Given the description of an element on the screen output the (x, y) to click on. 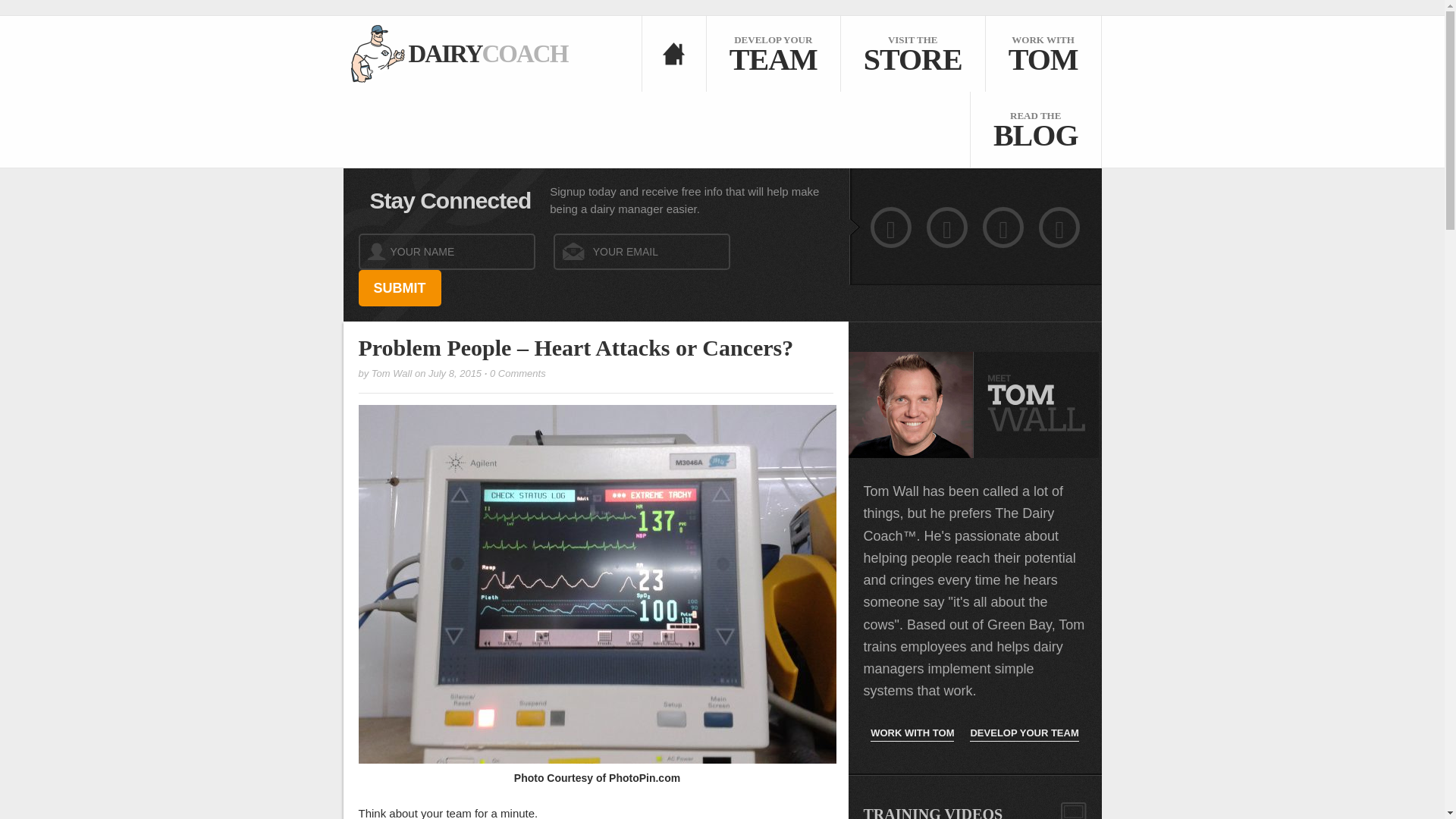
Submit (399, 288)
DEVELOP YOUR TEAM (1023, 733)
DAIRYCOACH (454, 53)
0 Comments (773, 53)
Dairy Coach (517, 373)
Tom Wall (454, 53)
Submit (912, 53)
WORK WITH TOM (391, 373)
